Given the description of an element on the screen output the (x, y) to click on. 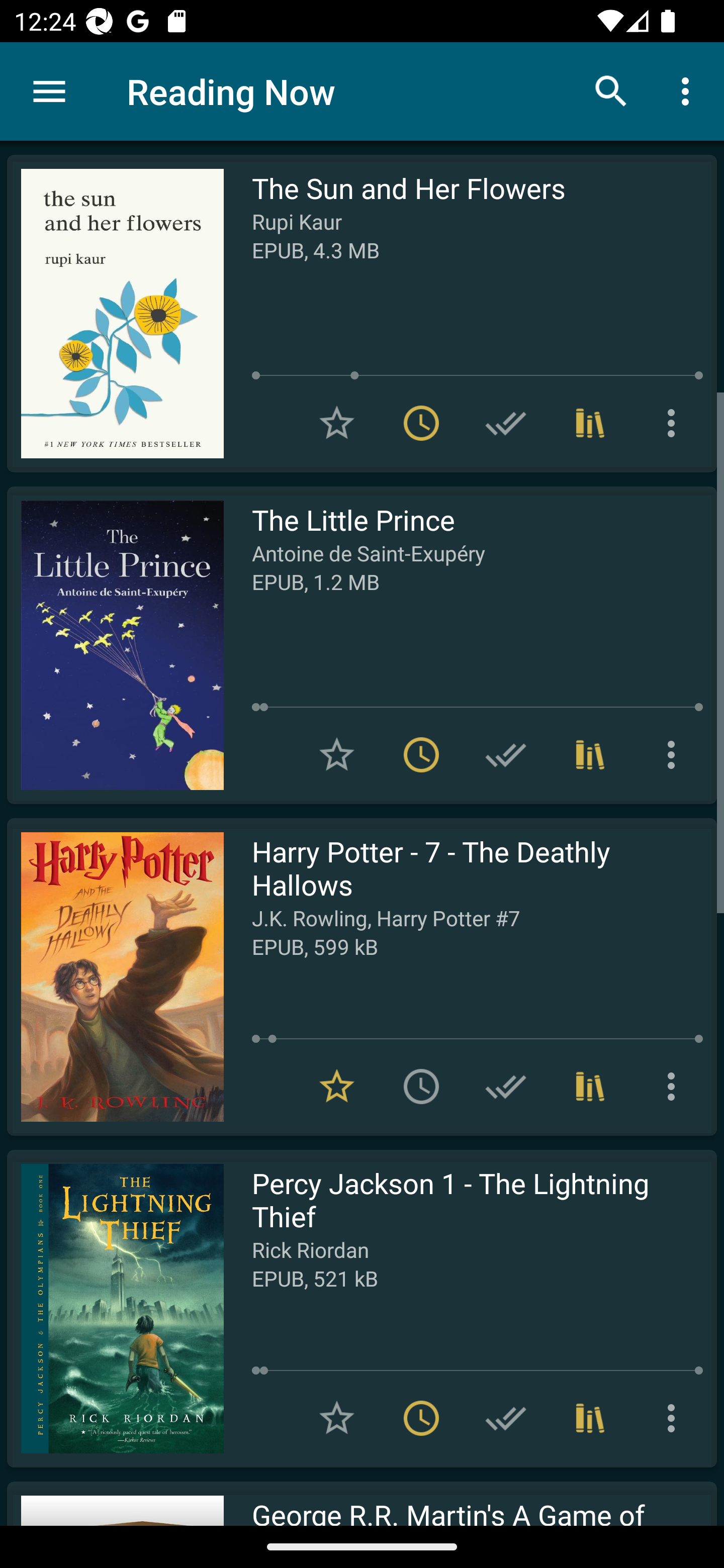
Menu (49, 91)
Search books & documents (611, 90)
More options (688, 90)
Read The Sun and Her Flowers (115, 313)
Add to Favorites (336, 423)
Remove from To read (421, 423)
Add to Have read (505, 423)
Collections (1) (590, 423)
More options (674, 423)
Read The Little Prince (115, 645)
Add to Favorites (336, 753)
Remove from To read (421, 753)
Add to Have read (505, 753)
Collections (1) (590, 753)
More options (674, 753)
Read Harry Potter - 7 - The Deathly Hallows (115, 976)
Remove from Favorites (336, 1086)
Add to To read (421, 1086)
Add to Have read (505, 1086)
Collections (2) (590, 1086)
More options (674, 1086)
Read Percy Jackson 1 - The Lightning Thief (115, 1308)
Add to Favorites (336, 1417)
Remove from To read (421, 1417)
Add to Have read (505, 1417)
Collections (1) (590, 1417)
More options (674, 1417)
